Given the description of an element on the screen output the (x, y) to click on. 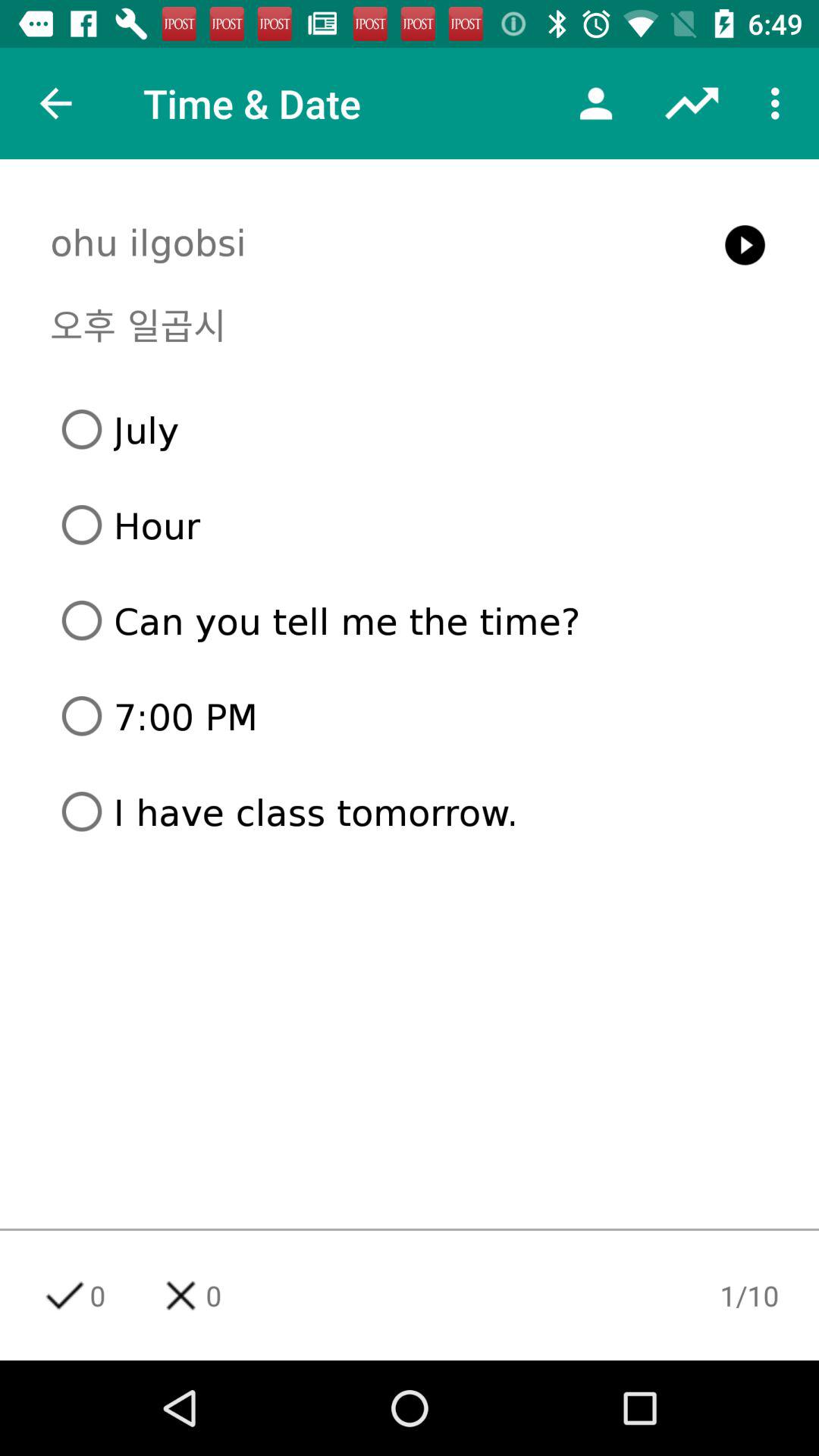
choose the icon next to time & date icon (595, 103)
